Given the description of an element on the screen output the (x, y) to click on. 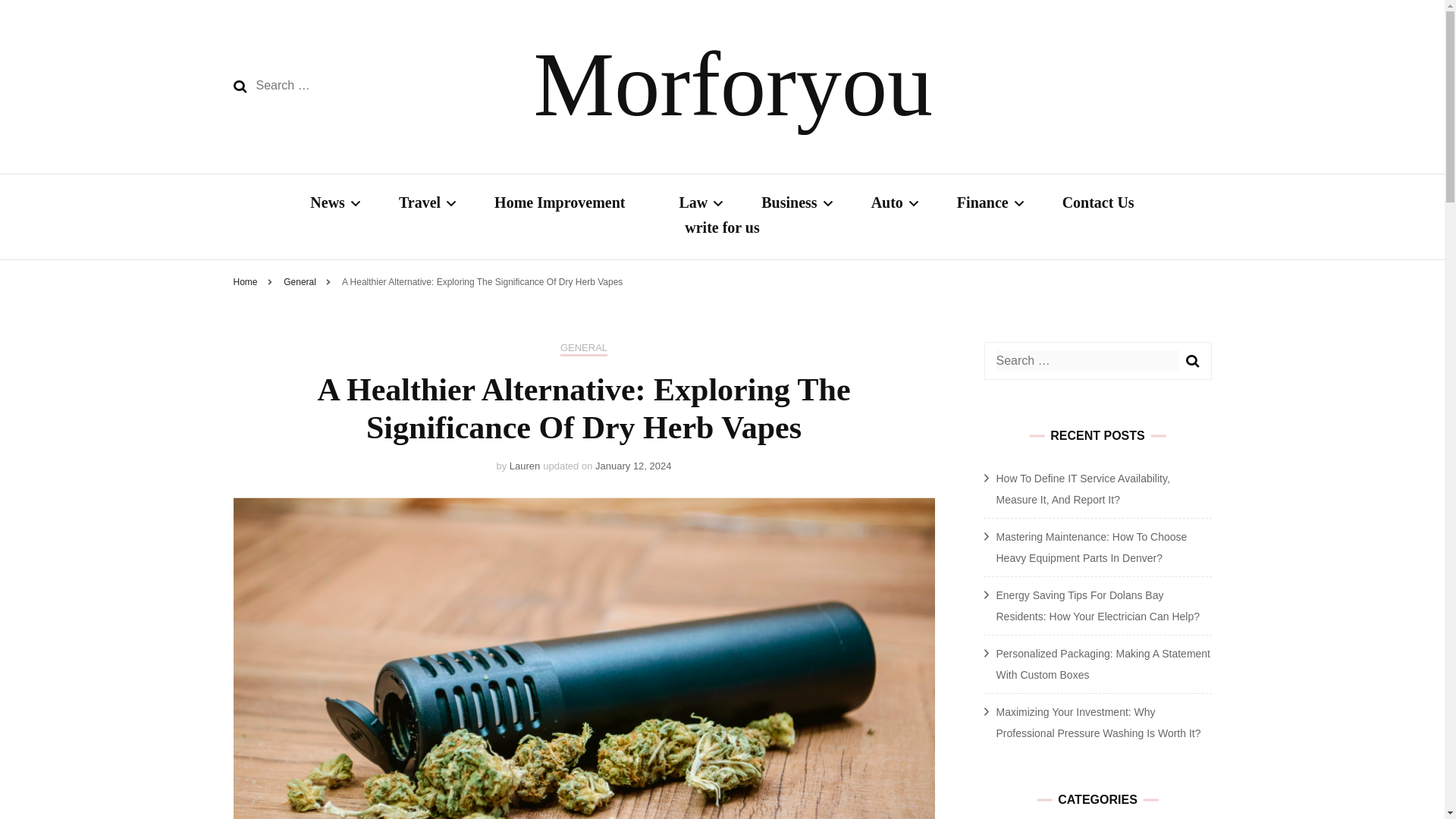
Law (692, 204)
Finance (982, 204)
write for us (722, 229)
Lauren (524, 465)
January 12, 2024 (633, 465)
Contact Us (1098, 204)
Search (1192, 360)
Search (239, 86)
Home (244, 281)
Business (788, 204)
Auto (886, 204)
Home Improvement (559, 204)
Search (1192, 360)
Morforyou (733, 84)
